Given the description of an element on the screen output the (x, y) to click on. 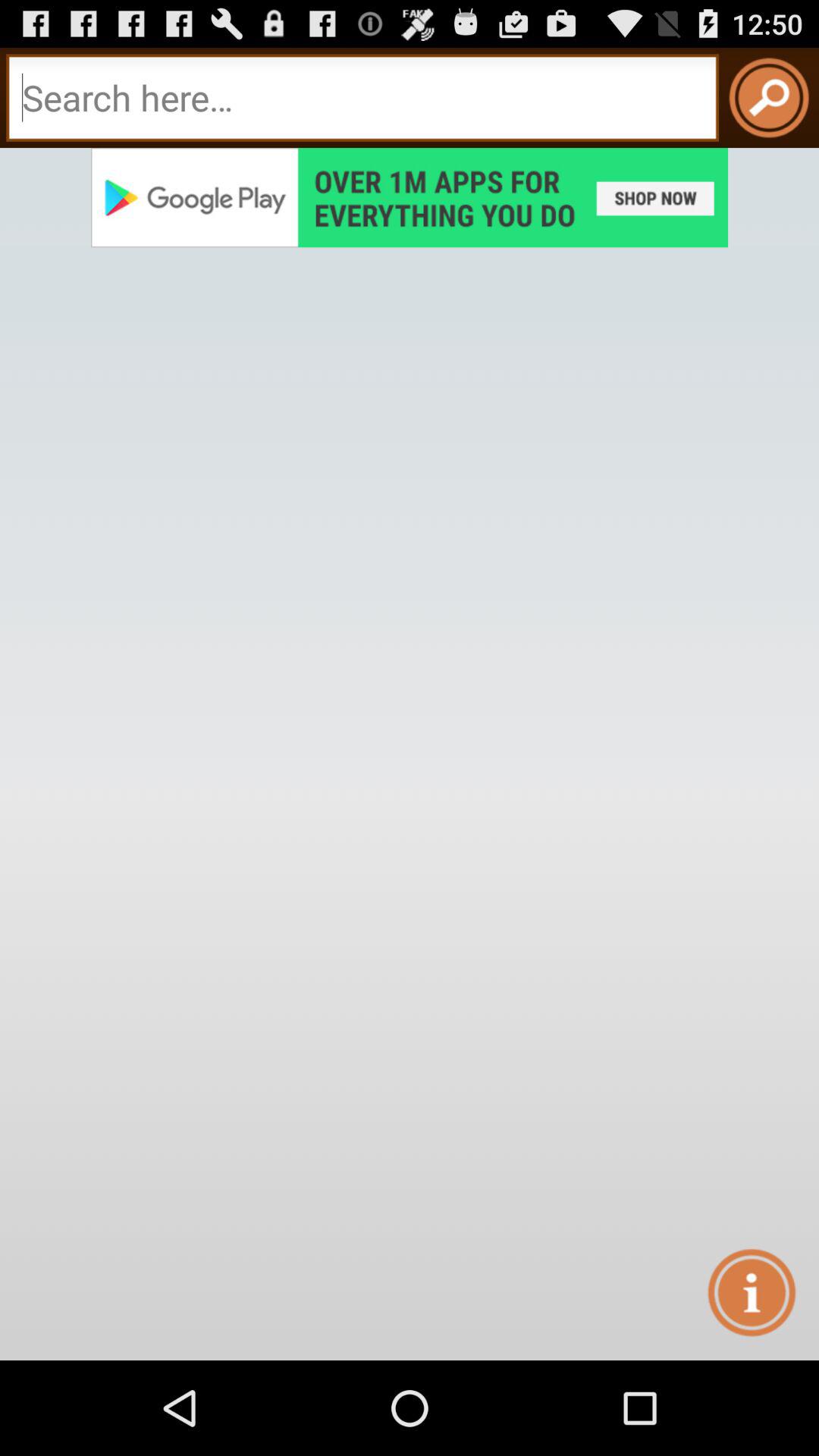
search (768, 97)
